Given the description of an element on the screen output the (x, y) to click on. 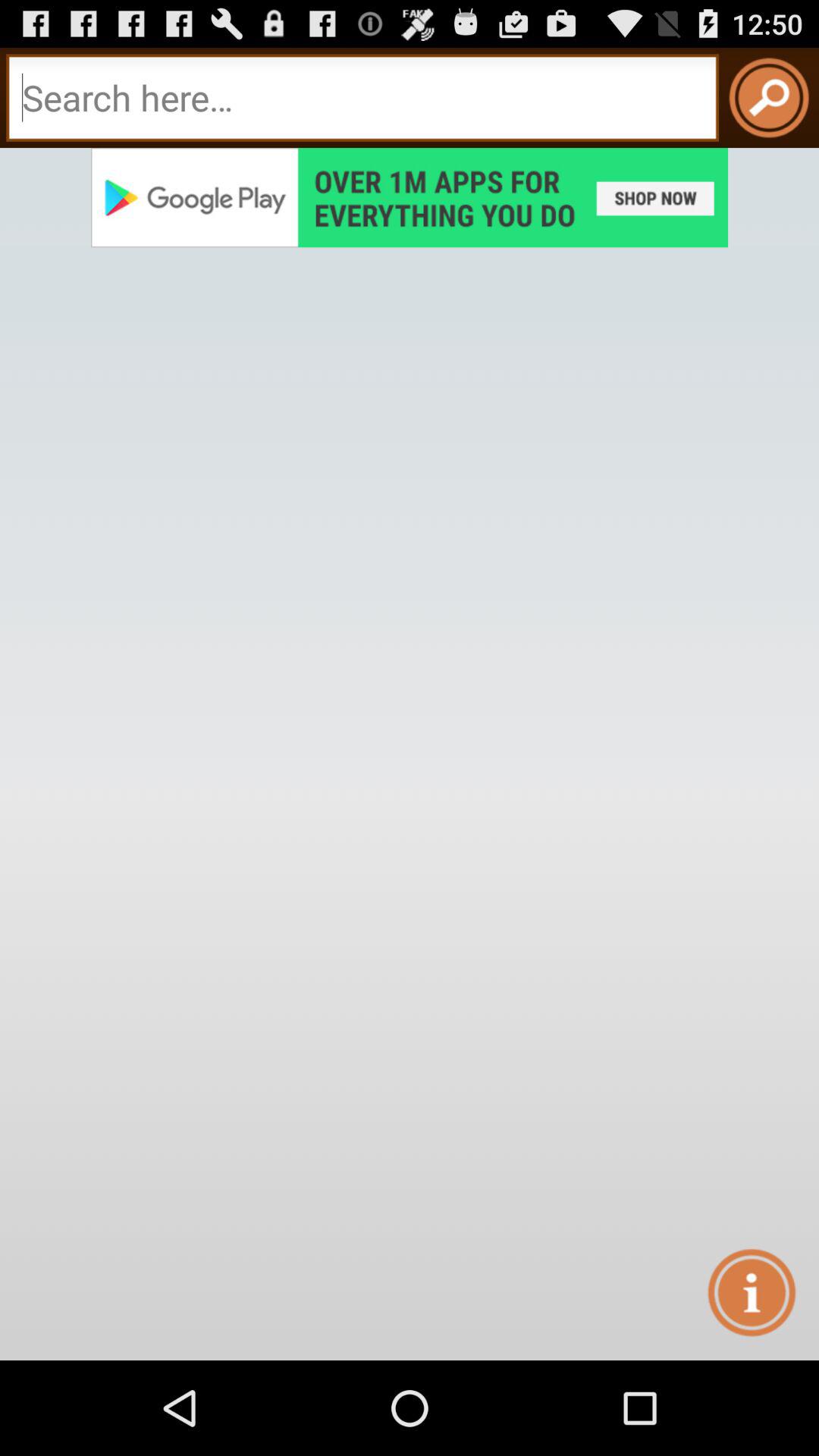
search (768, 97)
